Given the description of an element on the screen output the (x, y) to click on. 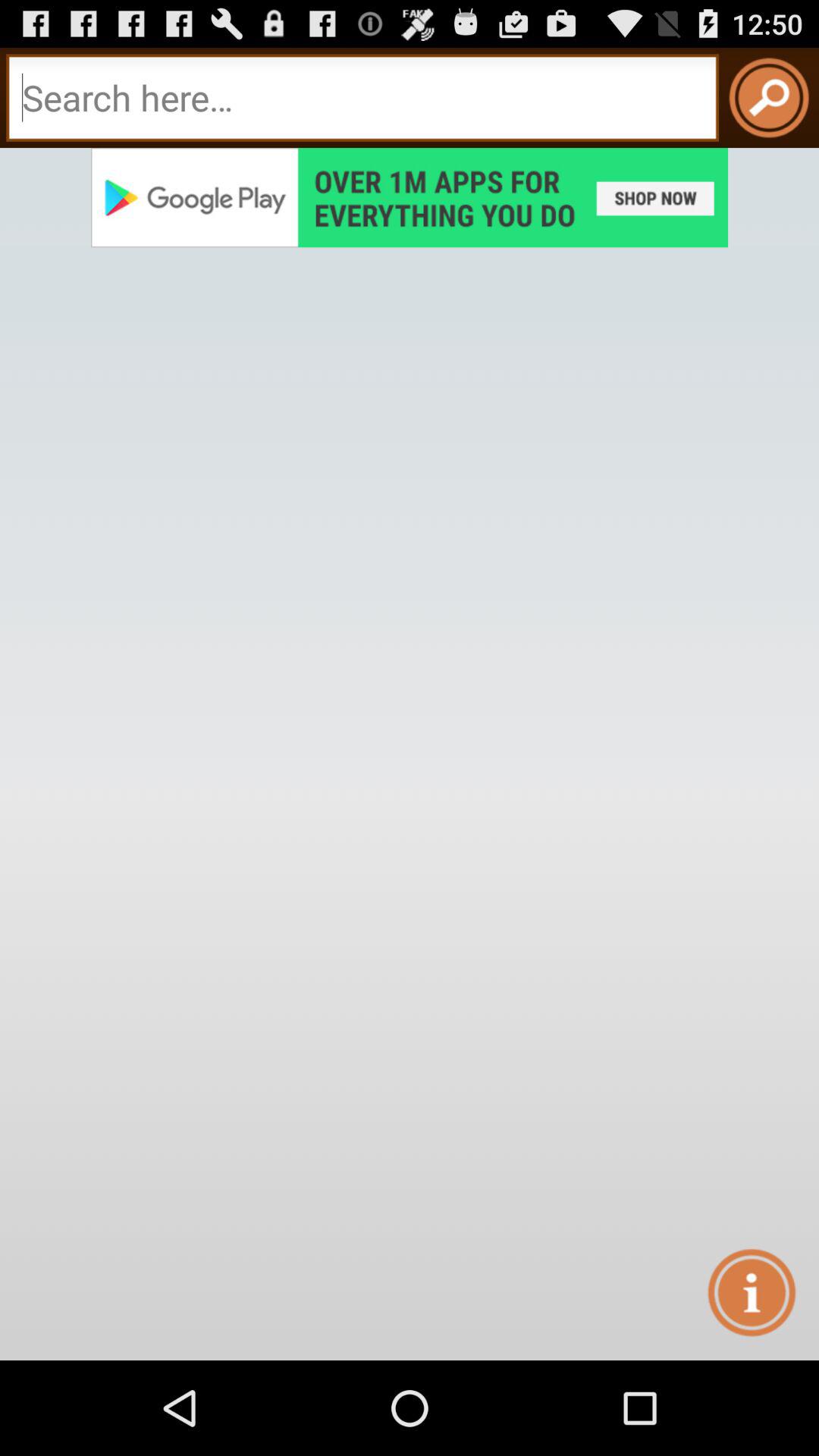
search (768, 97)
